Given the description of an element on the screen output the (x, y) to click on. 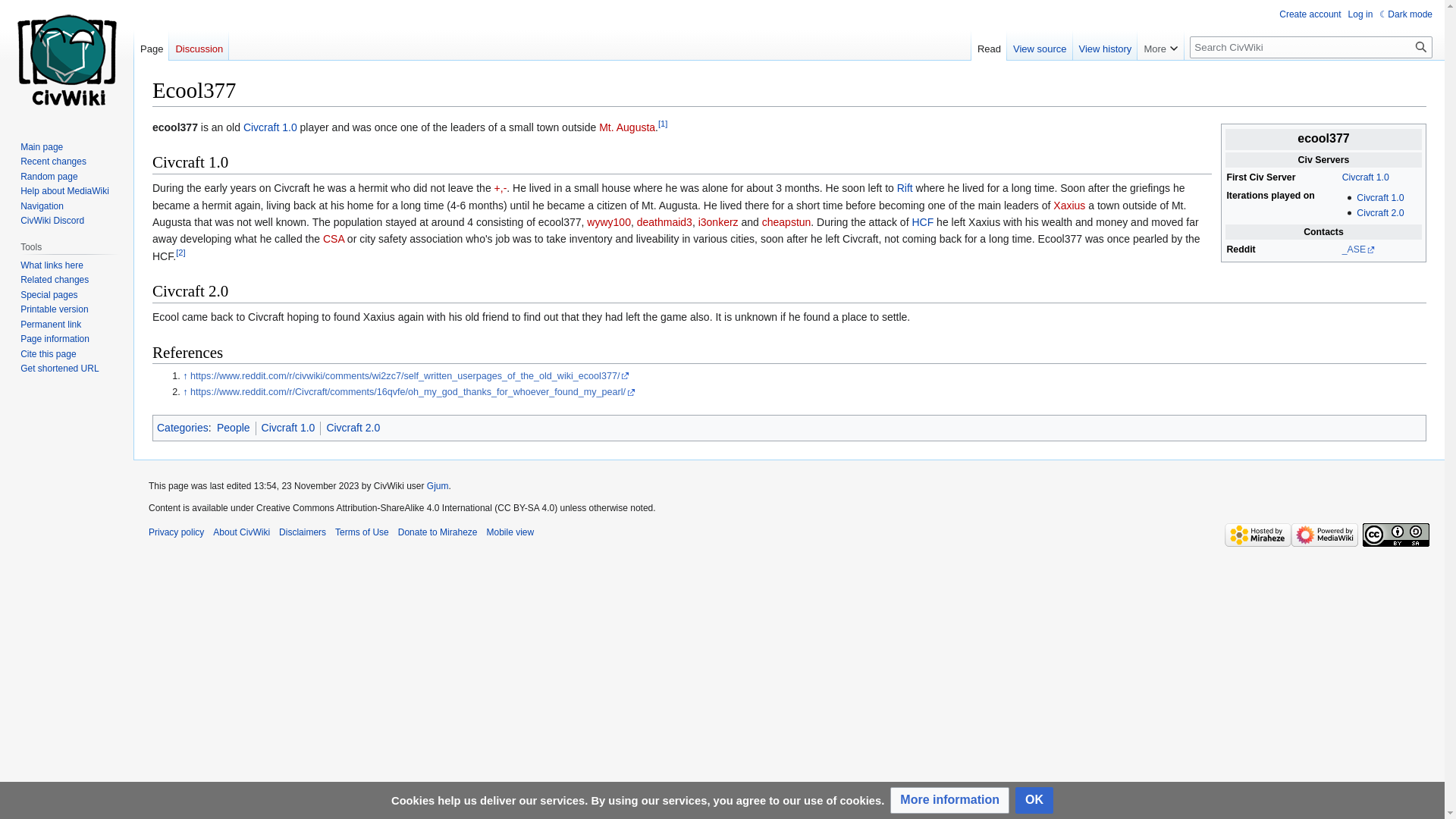
Civcraft 2.0 (1379, 213)
HCF (922, 222)
Civcraft 1.0 (1365, 176)
Discussion (198, 45)
HCF (922, 222)
More information (949, 800)
Civcraft 1.0 (270, 127)
Special:Categories (182, 427)
deathmaid3 (665, 222)
